Given the description of an element on the screen output the (x, y) to click on. 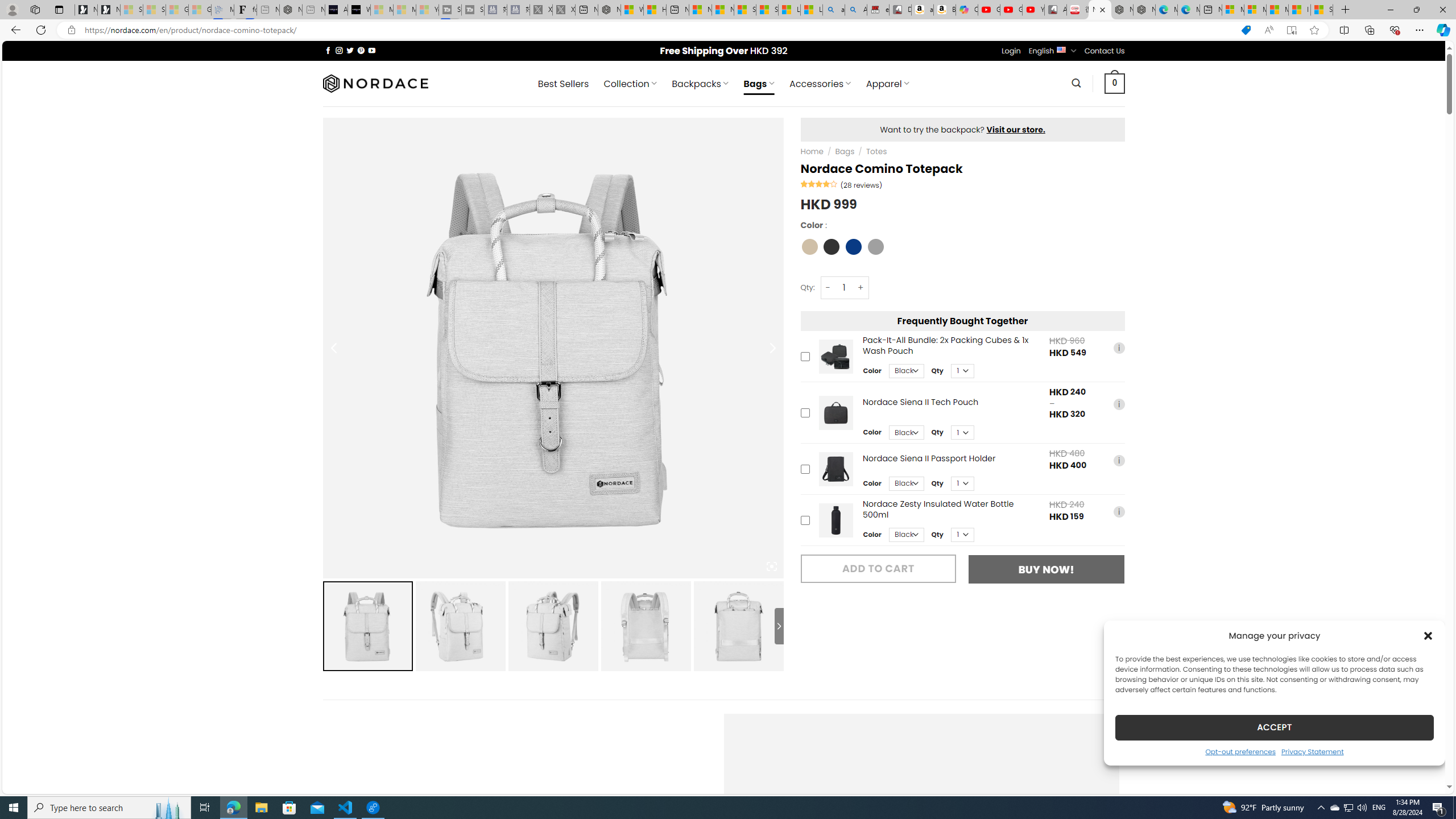
 Best Sellers (563, 83)
Totes (876, 151)
